Given the description of an element on the screen output the (x, y) to click on. 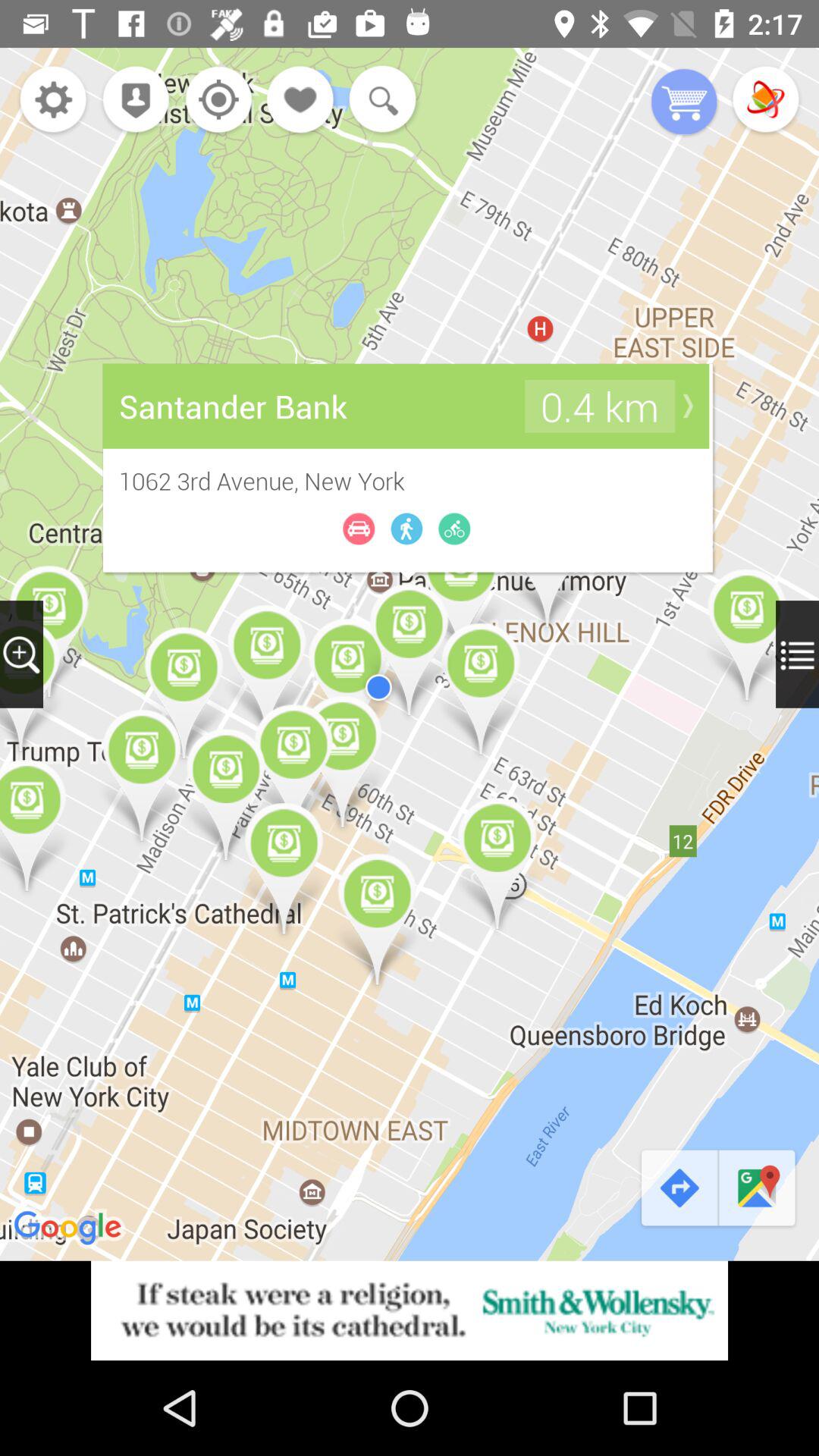
click advertisement (409, 1310)
